Given the description of an element on the screen output the (x, y) to click on. 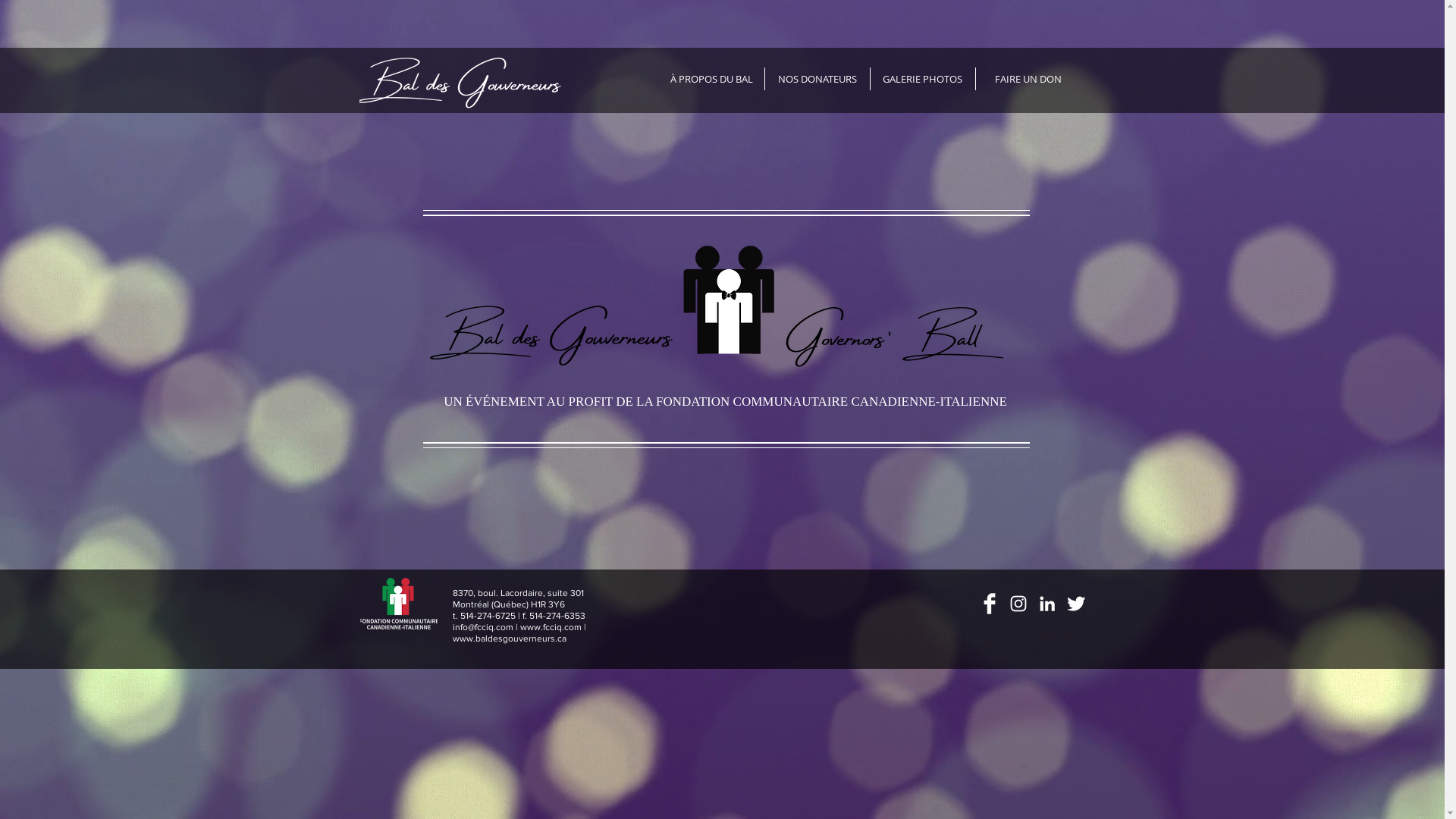
GALERIE PHOTOS Element type: text (922, 78)
NOS DONATEURS Element type: text (816, 78)
Governors' Ball Logo_V1.png Element type: hover (725, 308)
info@fcciq.com Element type: text (481, 626)
FAIRE UN DON Element type: text (1027, 78)
| www.baldesgouverneurs.ca Element type: text (518, 632)
www.fcciq.com  Element type: text (551, 626)
